Given the description of an element on the screen output the (x, y) to click on. 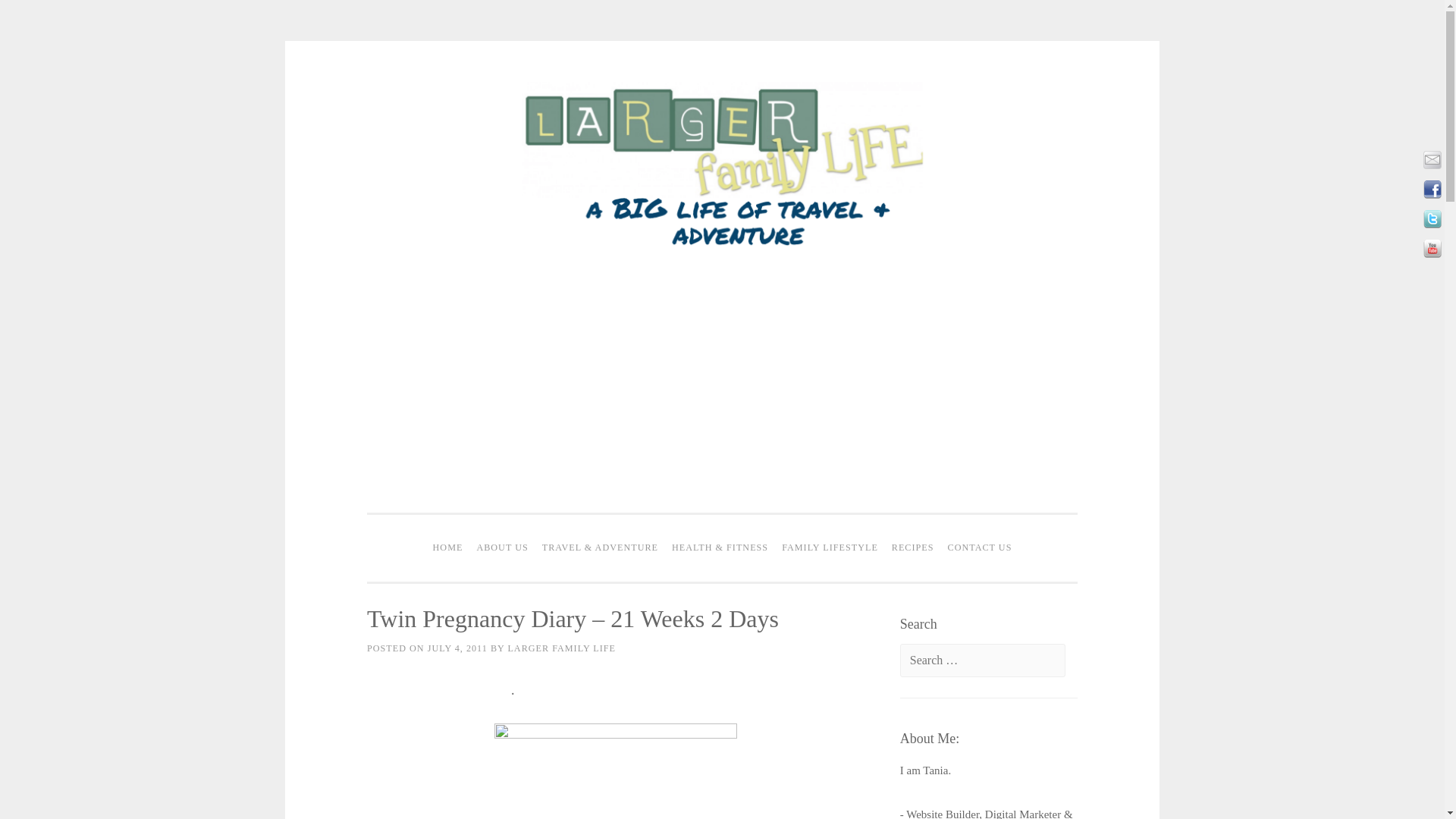
FAMILY LIFESTYLE (829, 548)
CONTACT US (979, 548)
Larger Family Life  (722, 248)
LARGER FAMILY LIFE (560, 647)
ABOUT US (501, 548)
JULY 4, 2011 (457, 647)
HOME (448, 548)
RECIPES (912, 548)
